Given the description of an element on the screen output the (x, y) to click on. 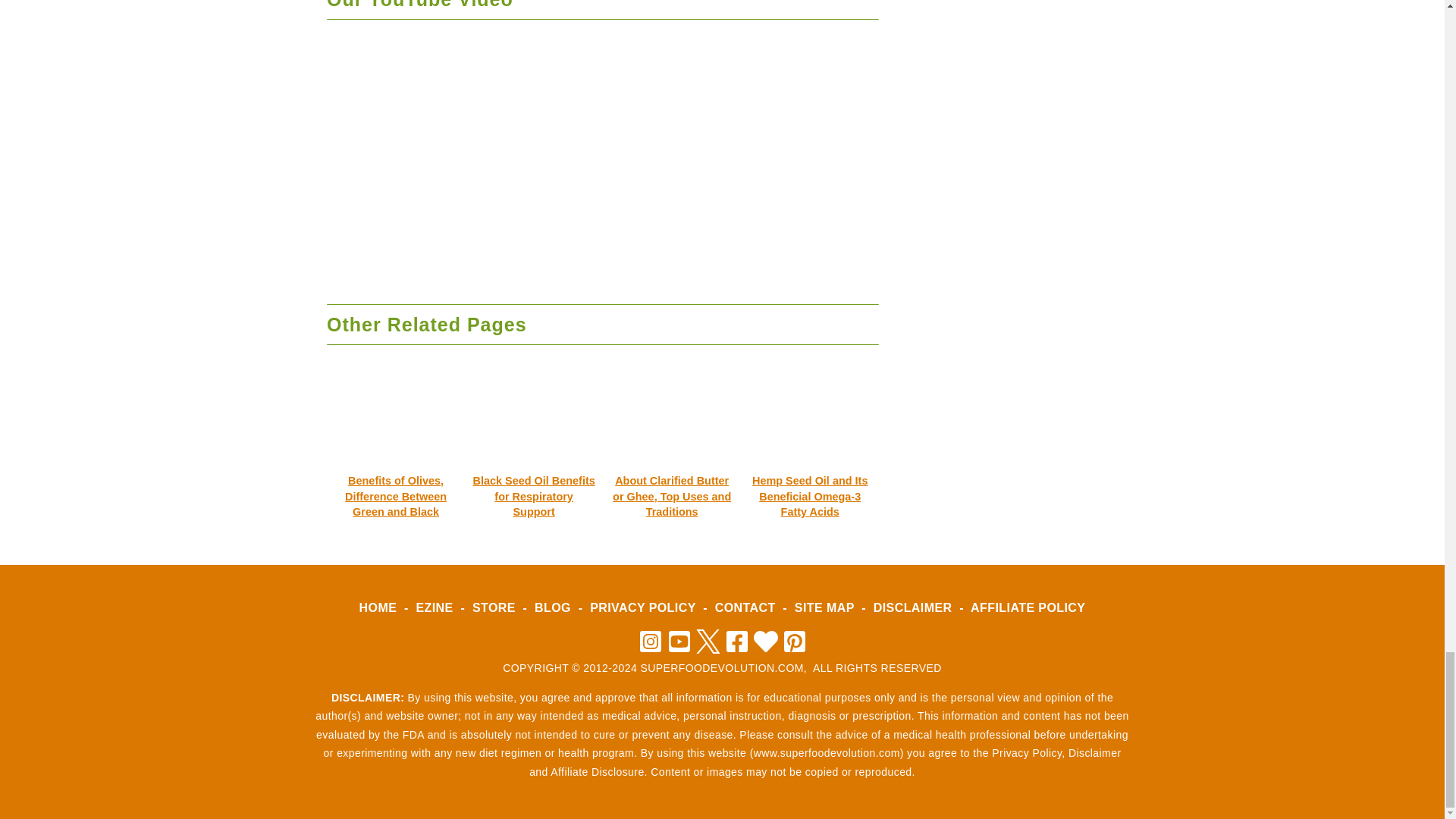
Go to Black Seed Oil Benefits for Respiratory Support (533, 487)
Go to Hemp Seed Oil and Its Beneficial Omega-3 Fatty Acids (809, 487)
health-benifits-of-olives (395, 422)
YouTube video player (602, 157)
clarified-butter-related-pages (671, 422)
hemp-seed-oil-page (809, 422)
